Given the description of an element on the screen output the (x, y) to click on. 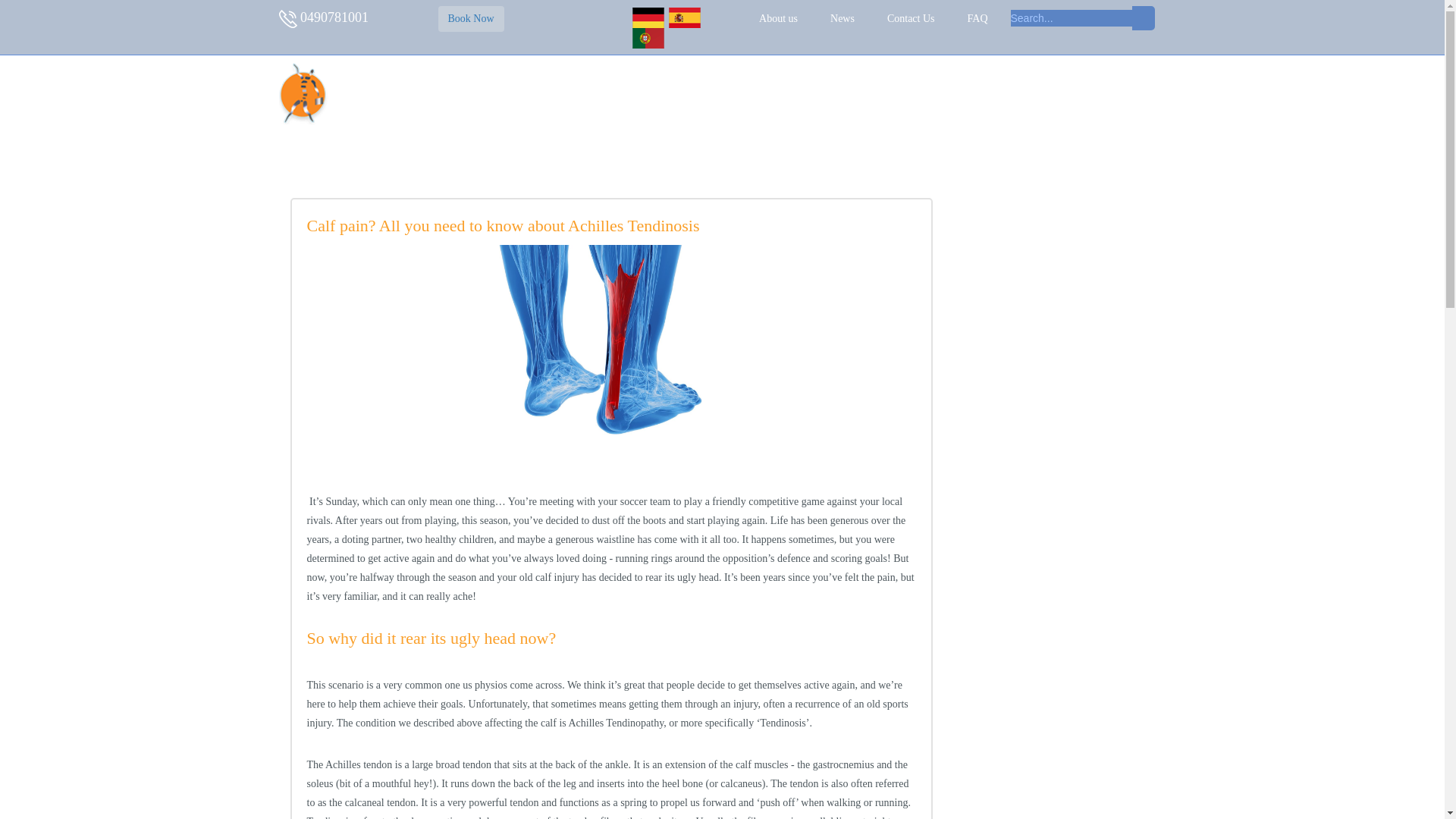
0490781001 (333, 17)
Book Now (470, 17)
FAQ (978, 18)
Home (601, 93)
News (841, 18)
Contact Us (910, 18)
About us (777, 18)
What we treat (749, 93)
What we do (666, 93)
What we treat (749, 93)
What we do (666, 93)
Home (601, 93)
Book Now (470, 18)
